Given the description of an element on the screen output the (x, y) to click on. 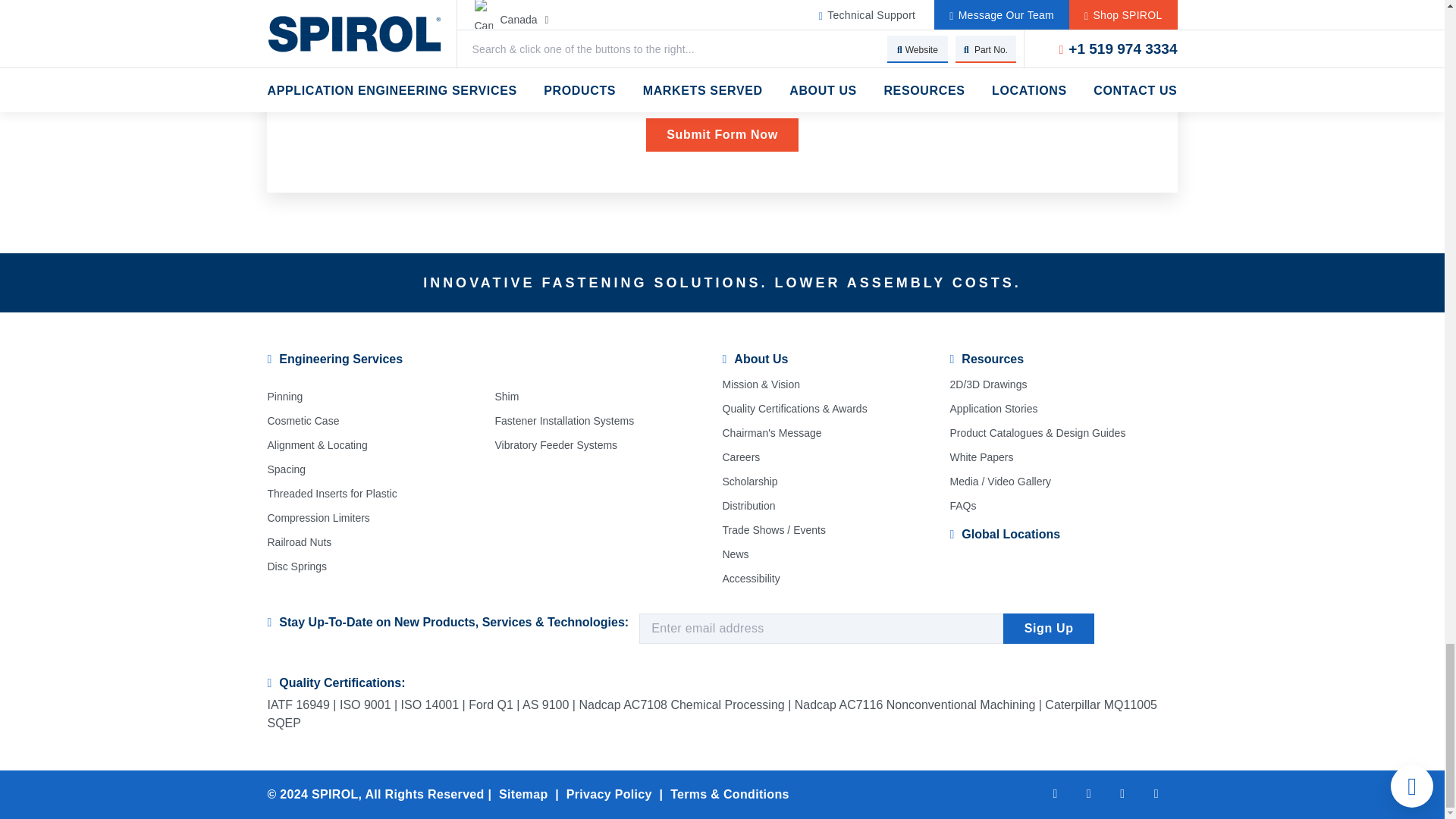
Submit Form Now (721, 134)
Sign Up (1048, 628)
